Given the description of an element on the screen output the (x, y) to click on. 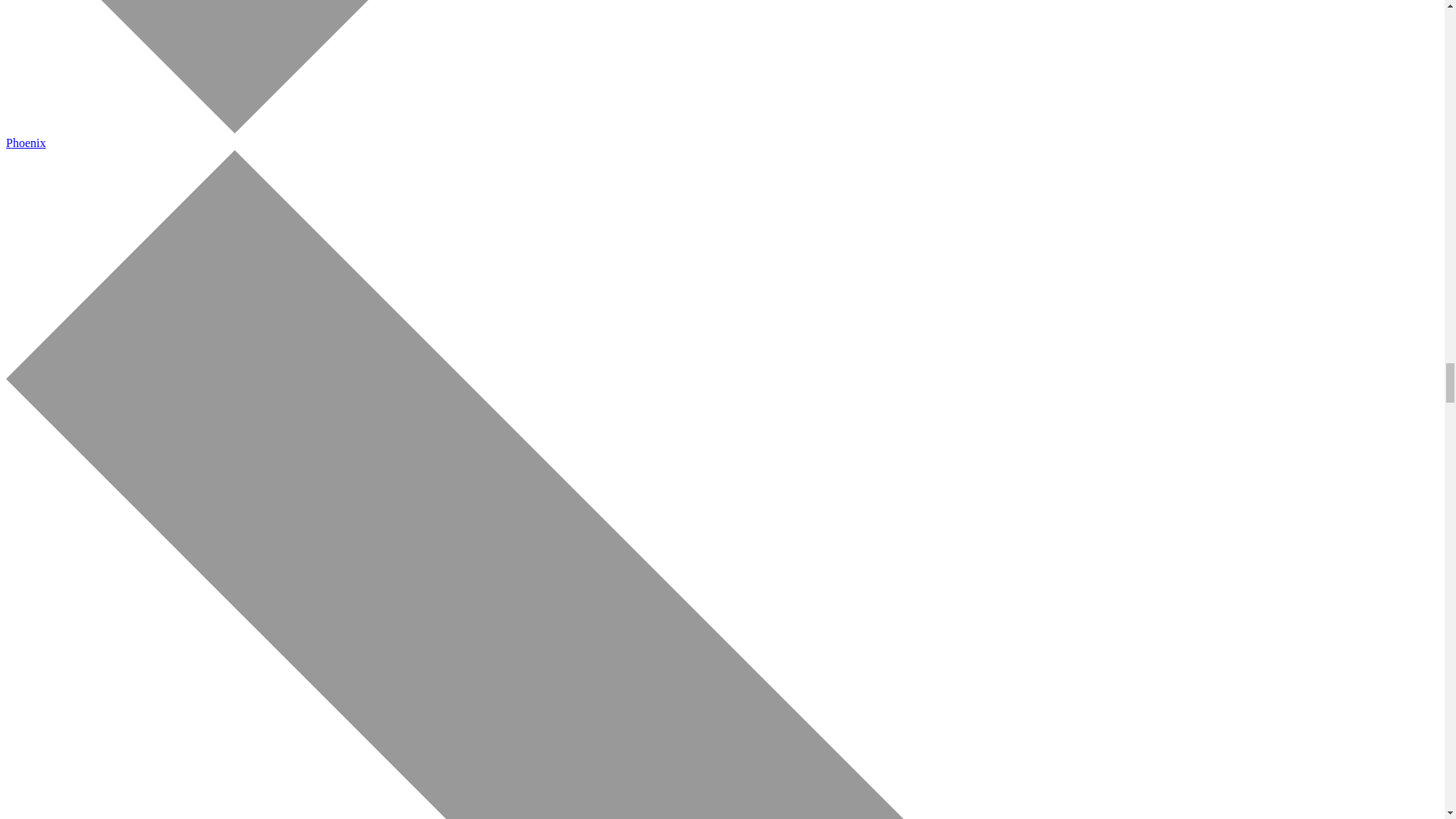
Phoenix (25, 142)
